Given the description of an element on the screen output the (x, y) to click on. 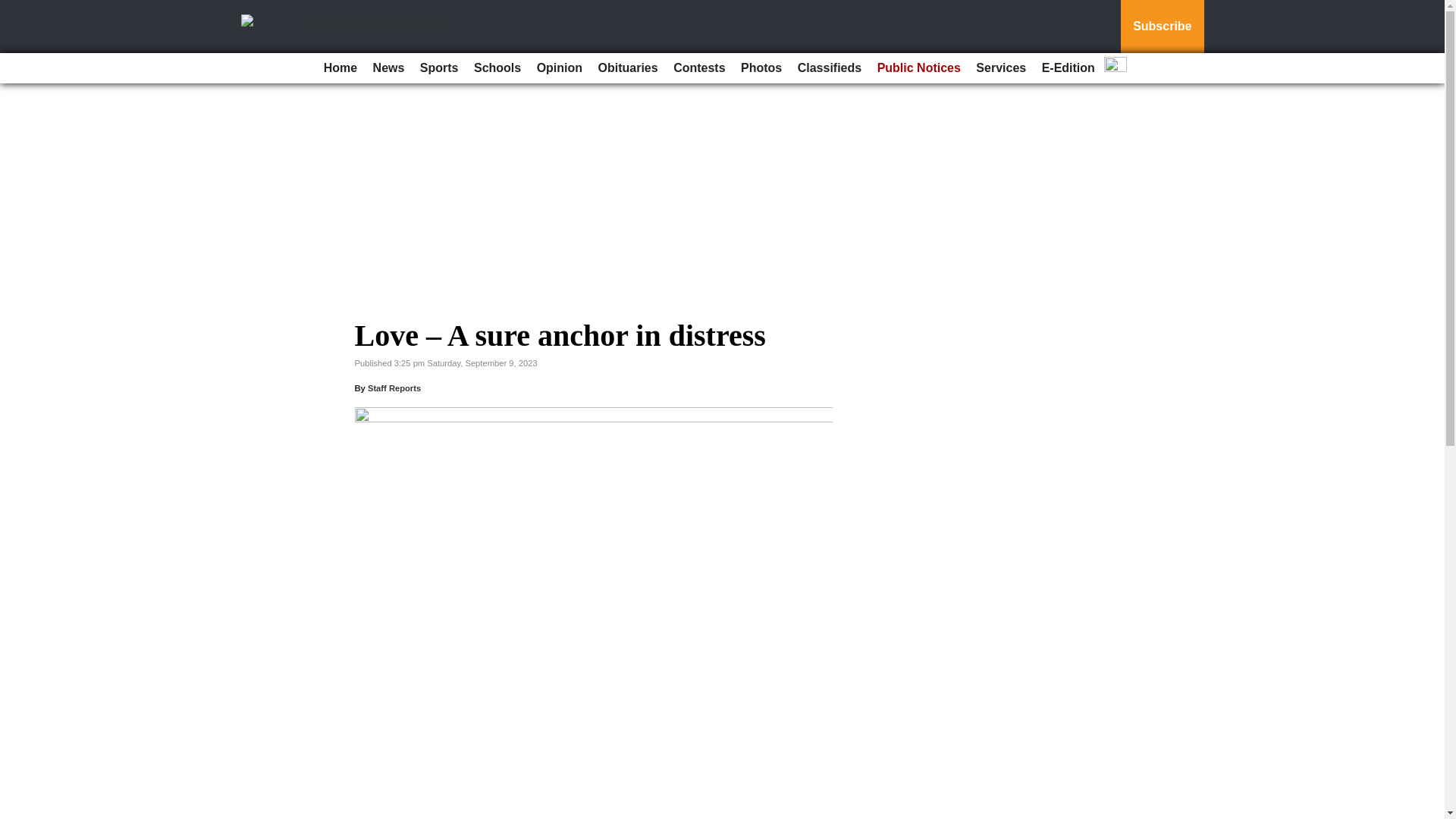
Staff Reports (394, 388)
Obituaries (627, 68)
Contests (698, 68)
Classifieds (829, 68)
Subscribe (1162, 26)
Home (339, 68)
Services (1000, 68)
E-Edition (1067, 68)
Sports (438, 68)
Photos (761, 68)
